Given the description of an element on the screen output the (x, y) to click on. 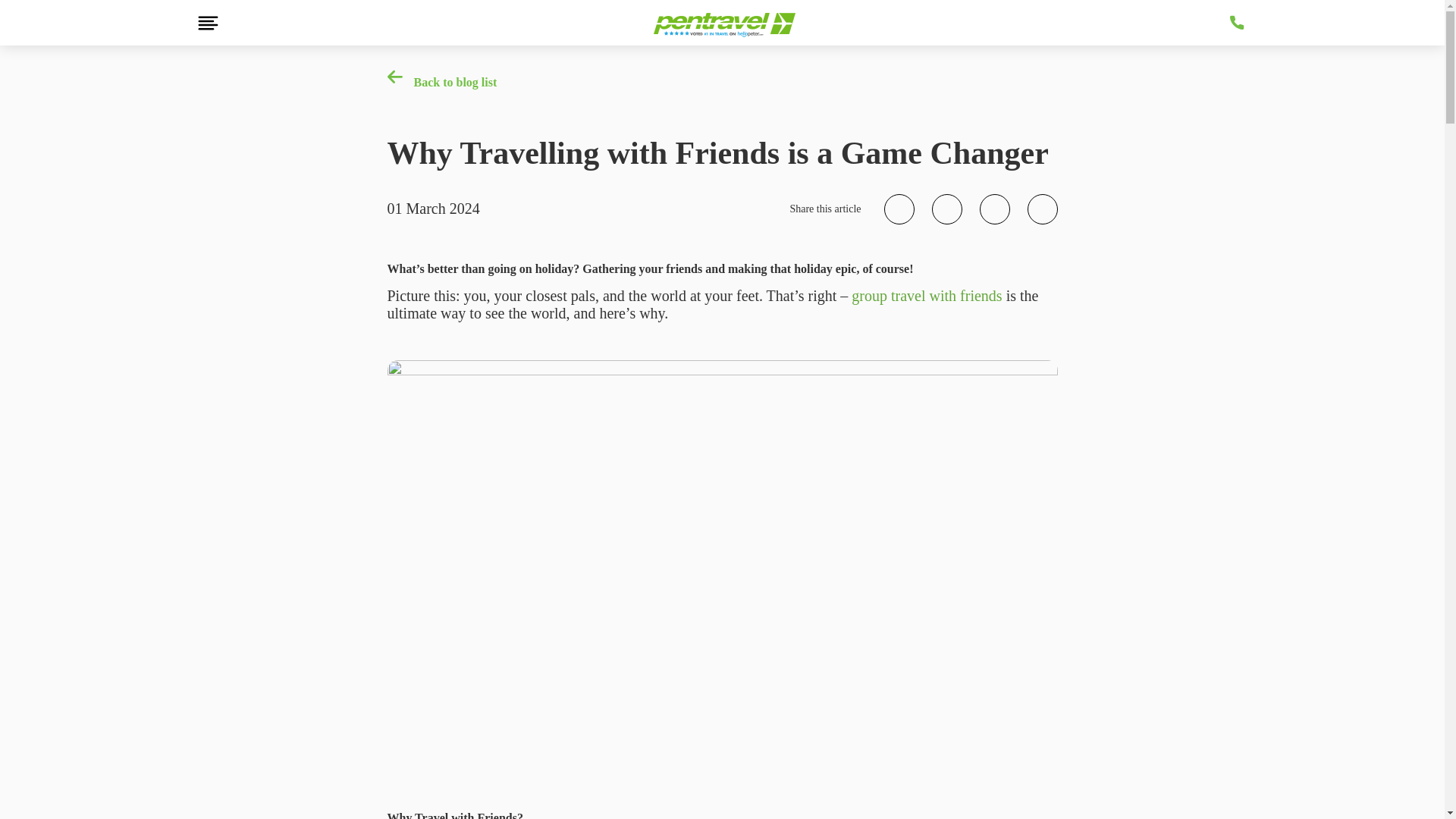
Back to blog list (441, 82)
group travel with friends (926, 295)
